Given the description of an element on the screen output the (x, y) to click on. 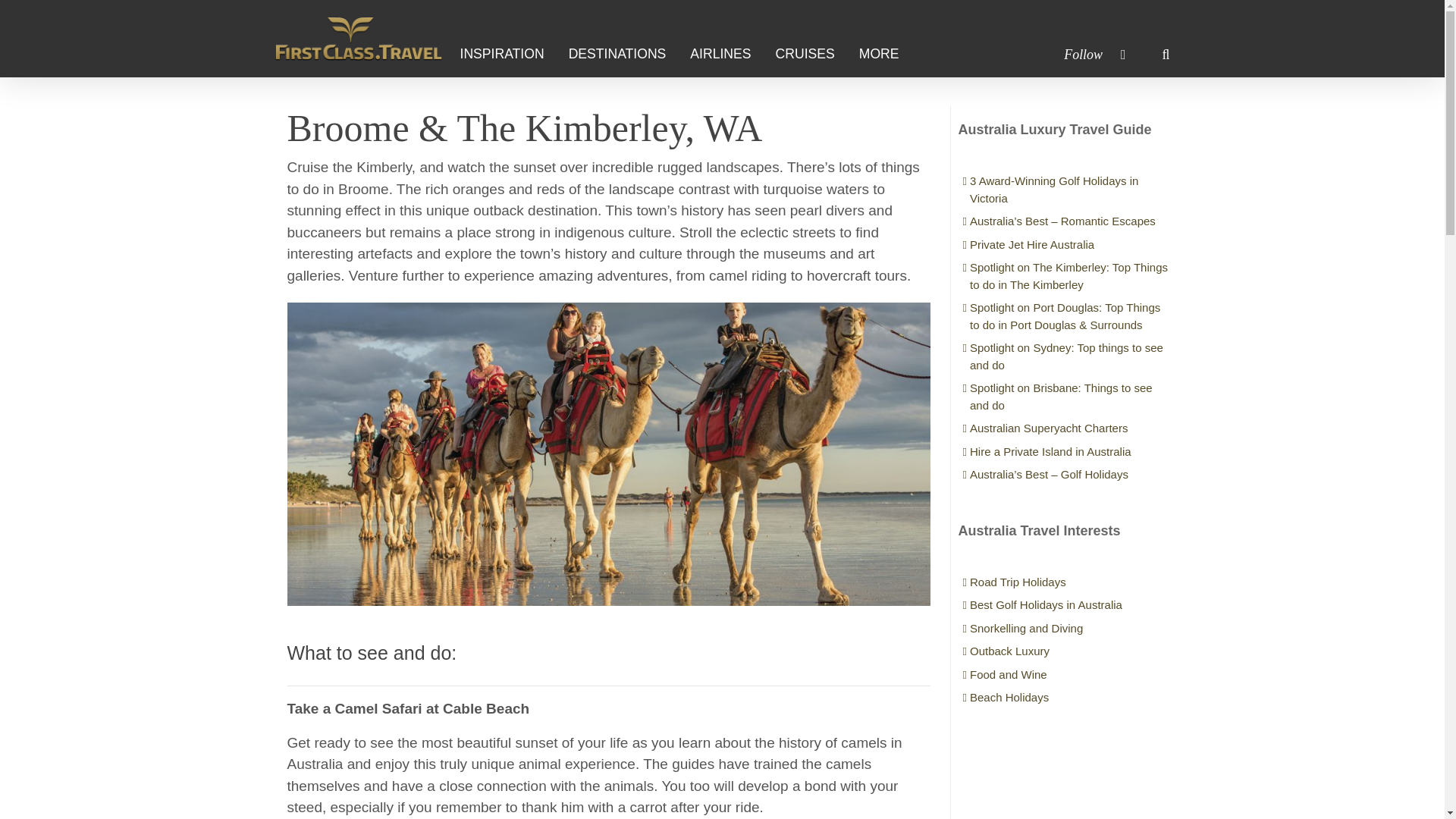
INSPIRATION (507, 54)
Cruises (811, 54)
AIRLINES (726, 54)
MORE (885, 54)
DESTINATIONS (623, 54)
Airlines (726, 54)
CRUISES (811, 54)
More (885, 54)
Destinations (623, 54)
Inspiration (507, 54)
